Given the description of an element on the screen output the (x, y) to click on. 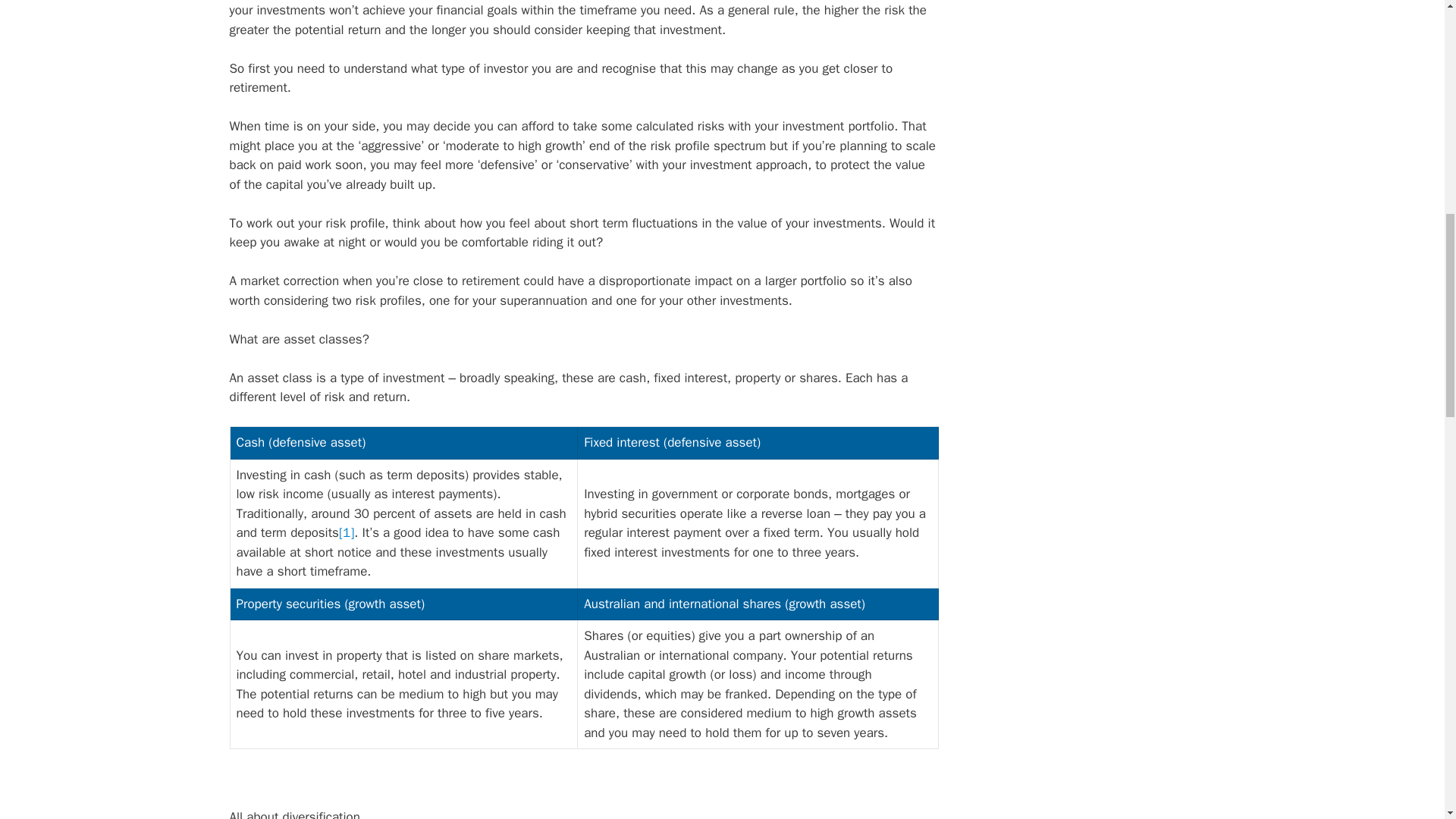
Scroll back to top (1406, 720)
